Given the description of an element on the screen output the (x, y) to click on. 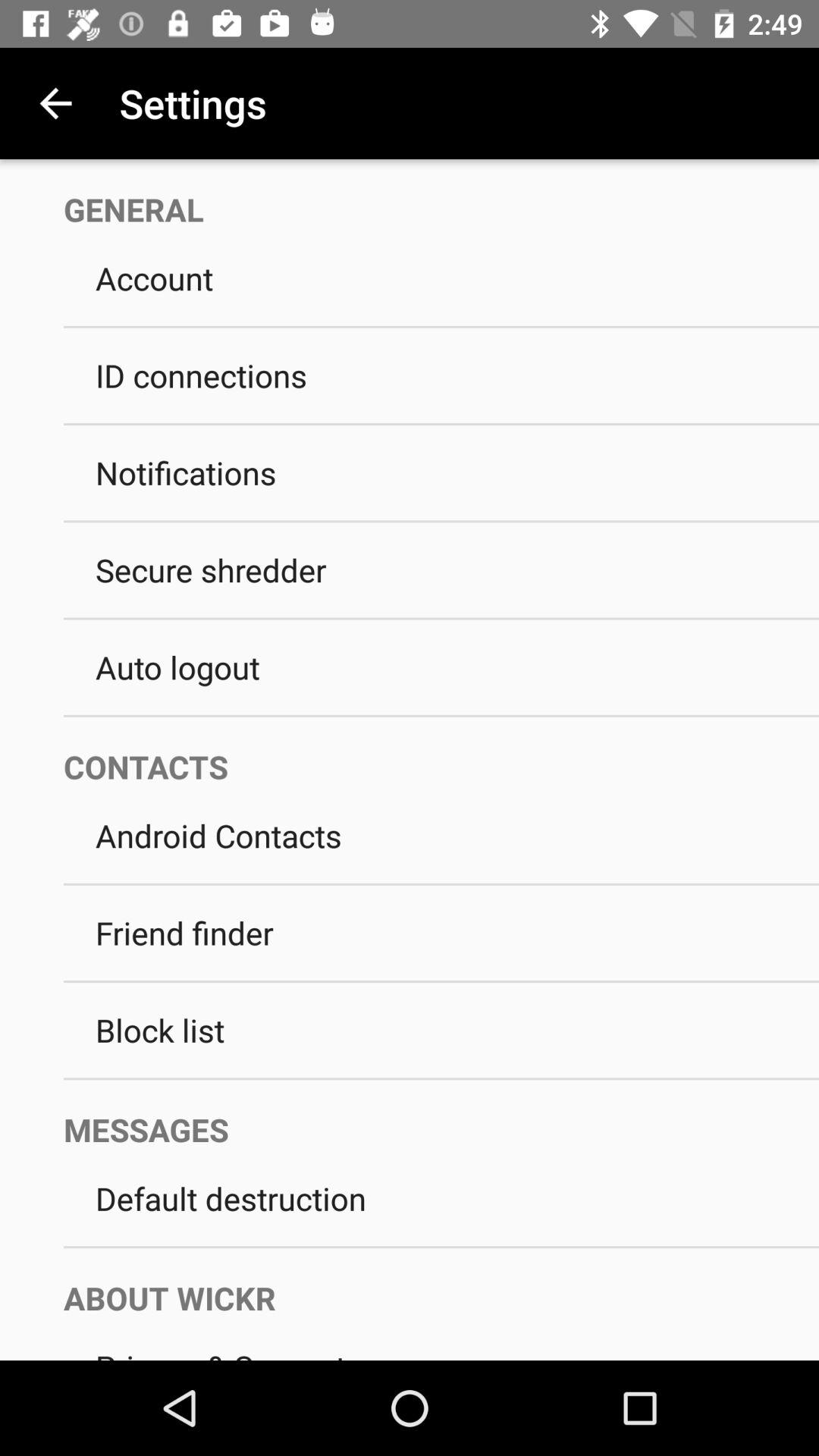
scroll to the messages icon (425, 1115)
